Given the description of an element on the screen output the (x, y) to click on. 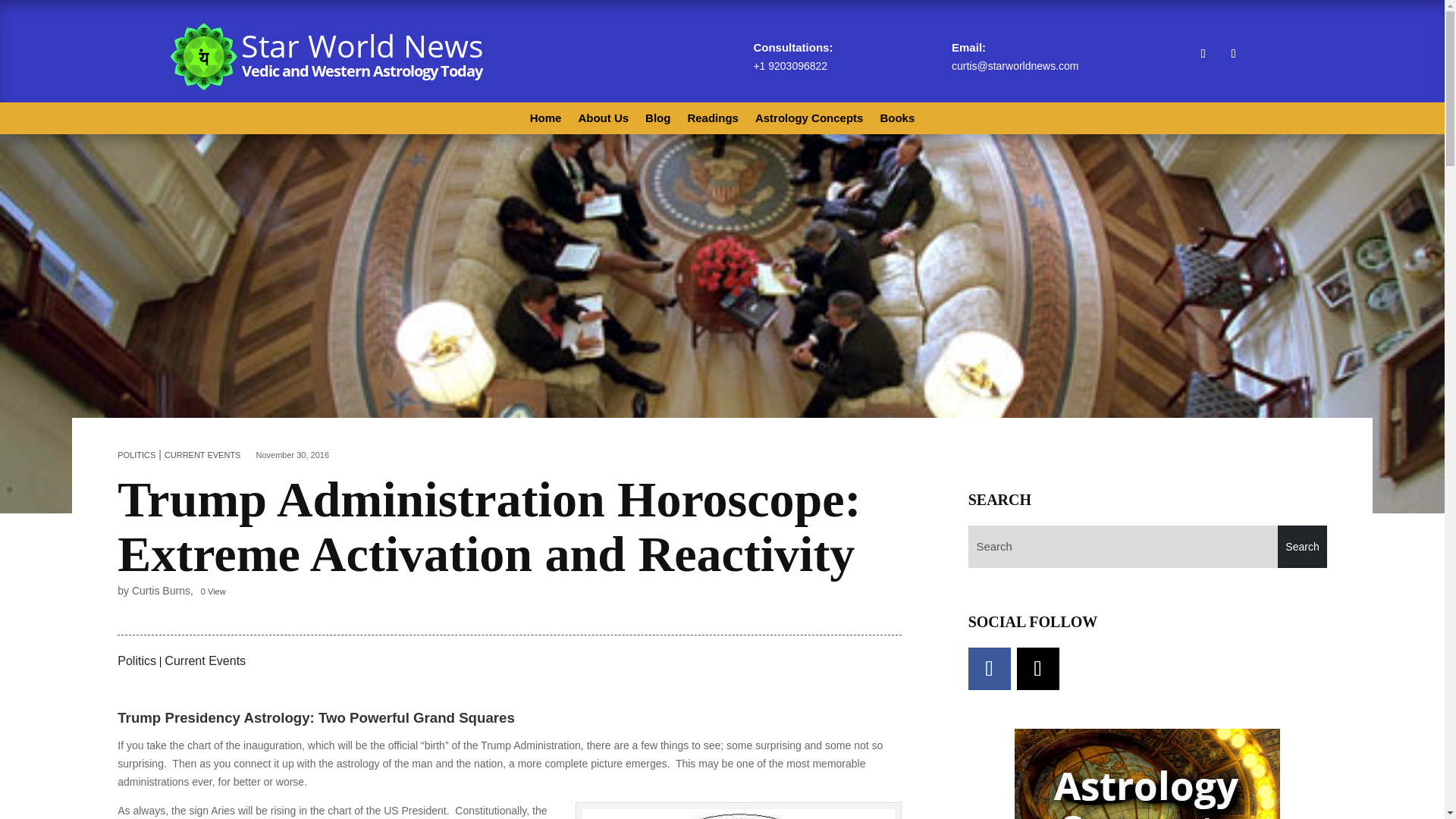
Star World News Astrology (328, 56)
Search (1302, 546)
0 View (212, 591)
Follow on X (1233, 53)
Home (545, 121)
Follow on Facebook (1203, 53)
CURRENT EVENTS (202, 454)
Current Events (205, 660)
Follow on Facebook (989, 668)
Search (1302, 546)
